Given the description of an element on the screen output the (x, y) to click on. 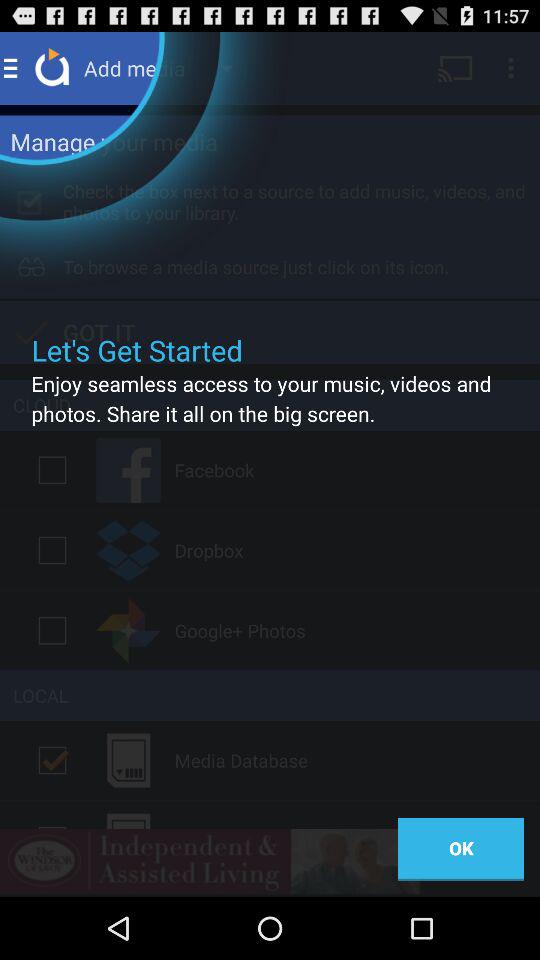
select this app (52, 469)
